Given the description of an element on the screen output the (x, y) to click on. 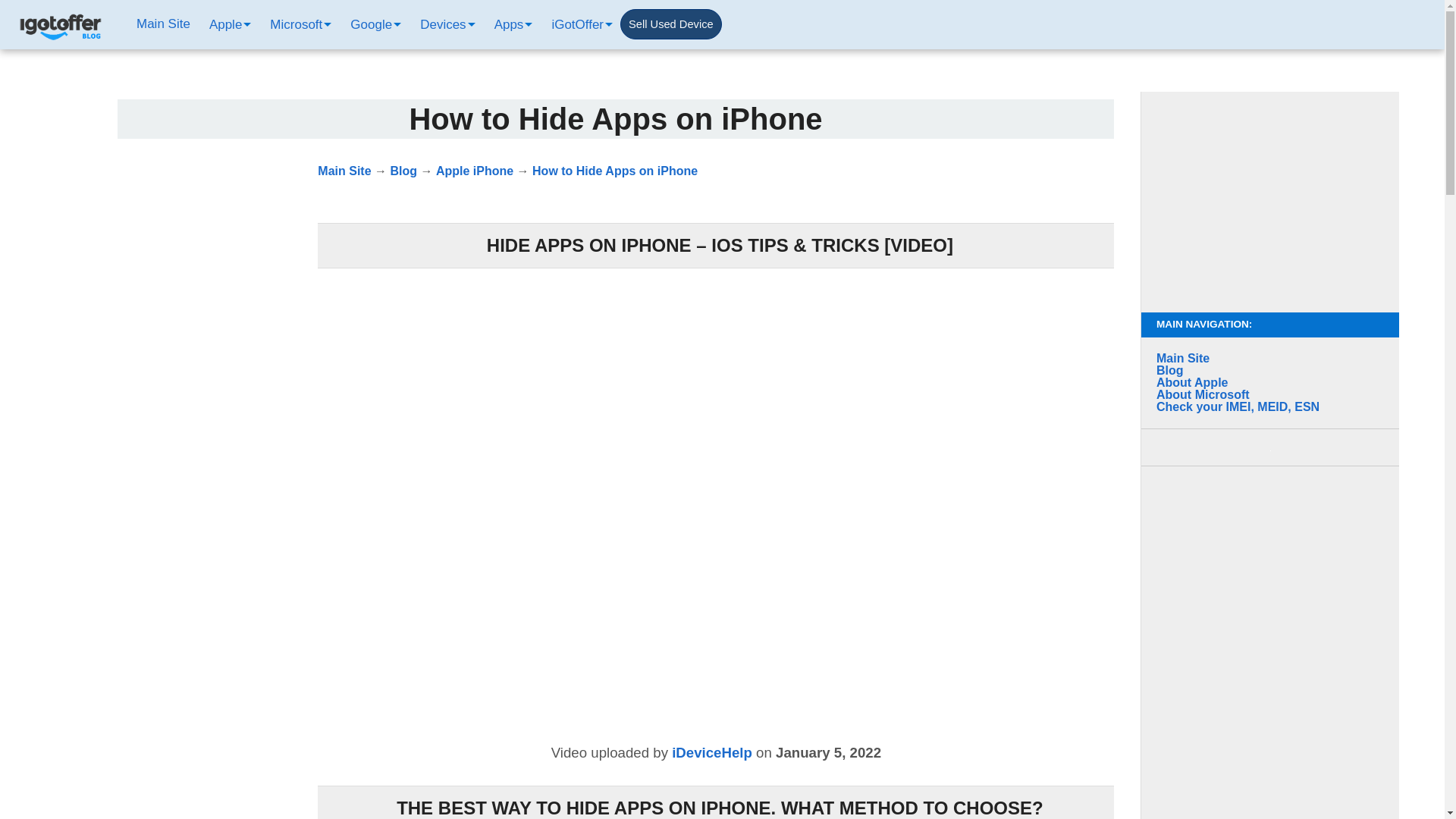
Apps (511, 24)
Microsoft (299, 24)
Go to iGotOffer Blog. (403, 170)
Go to How to Hide Apps on iPhone. (614, 170)
Apps (511, 24)
Microsoft (299, 24)
Google (374, 24)
Go to the Apple iPhone category archives. (474, 170)
Devices (445, 24)
